Given the description of an element on the screen output the (x, y) to click on. 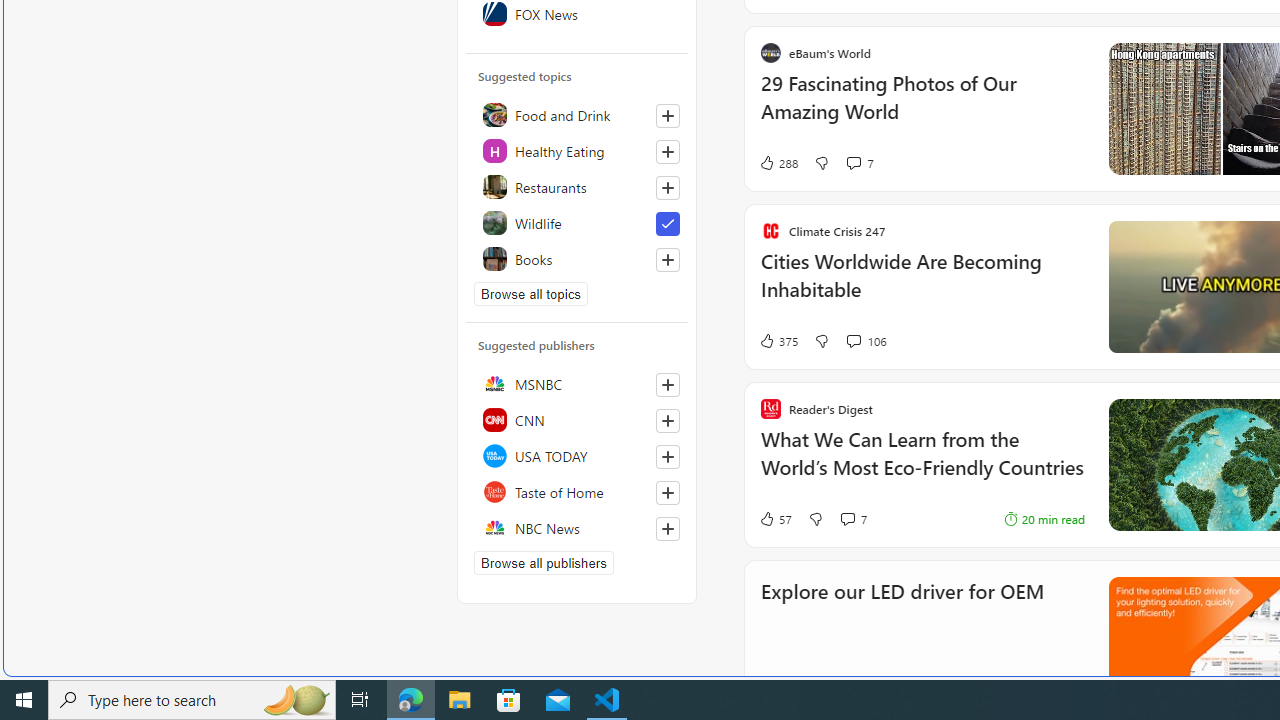
Wildlife (577, 222)
View comments 7 Comment (852, 518)
Browse all publishers (543, 562)
Cities Worldwide Are Becoming Inhabitable (922, 285)
Taste of Home (577, 492)
USA TODAY (577, 456)
MSNBC (577, 384)
Restaurants (577, 186)
29 Fascinating Photos of Our Amazing World (922, 107)
View comments 7 Comment (847, 519)
Unfollow this topic (667, 223)
375 Like (778, 340)
Explore our LED driver for OEM (902, 618)
